Given the description of an element on the screen output the (x, y) to click on. 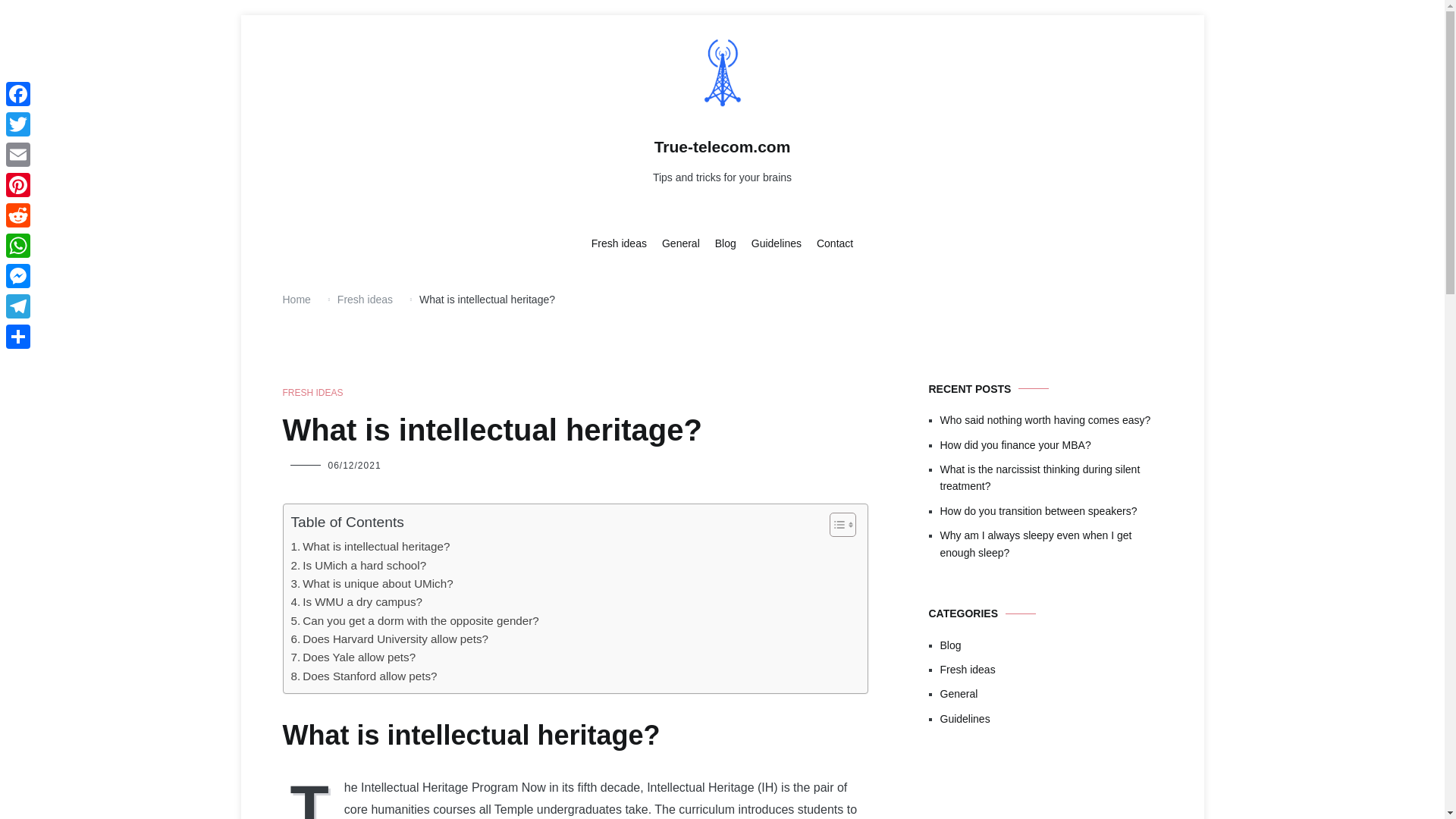
Does Harvard University allow pets? (390, 638)
Who said nothing worth having comes easy? (1050, 419)
Can you get a dorm with the opposite gender? (414, 620)
Twitter (17, 123)
Does Yale allow pets? (353, 657)
Fresh ideas (618, 244)
True-telecom.com (721, 146)
Does Harvard University allow pets? (390, 638)
Contact (834, 244)
Does Stanford allow pets? (364, 676)
